Given the description of an element on the screen output the (x, y) to click on. 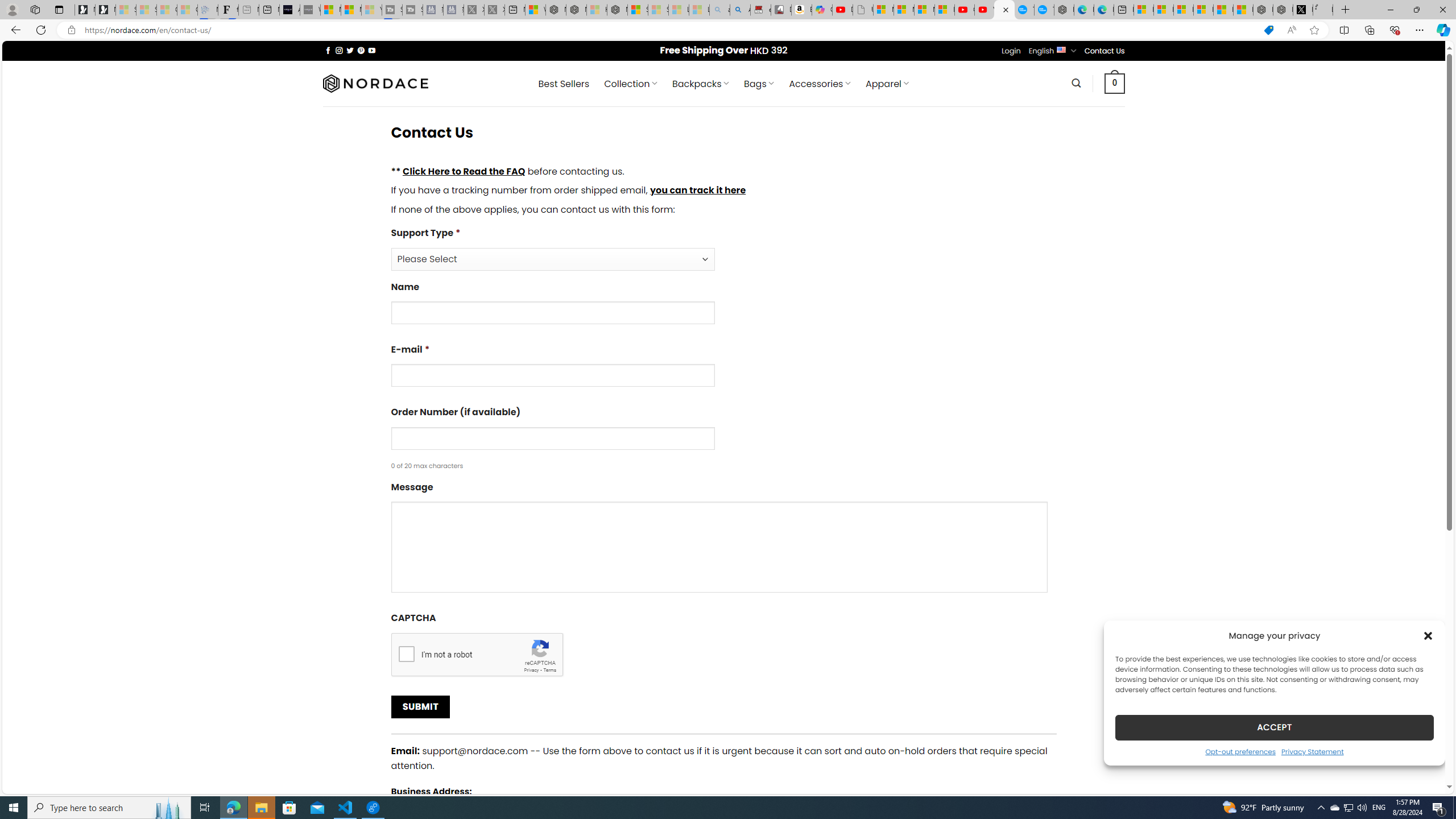
Opt-out preferences (1240, 750)
Message (723, 540)
Copilot (821, 9)
